Given the description of an element on the screen output the (x, y) to click on. 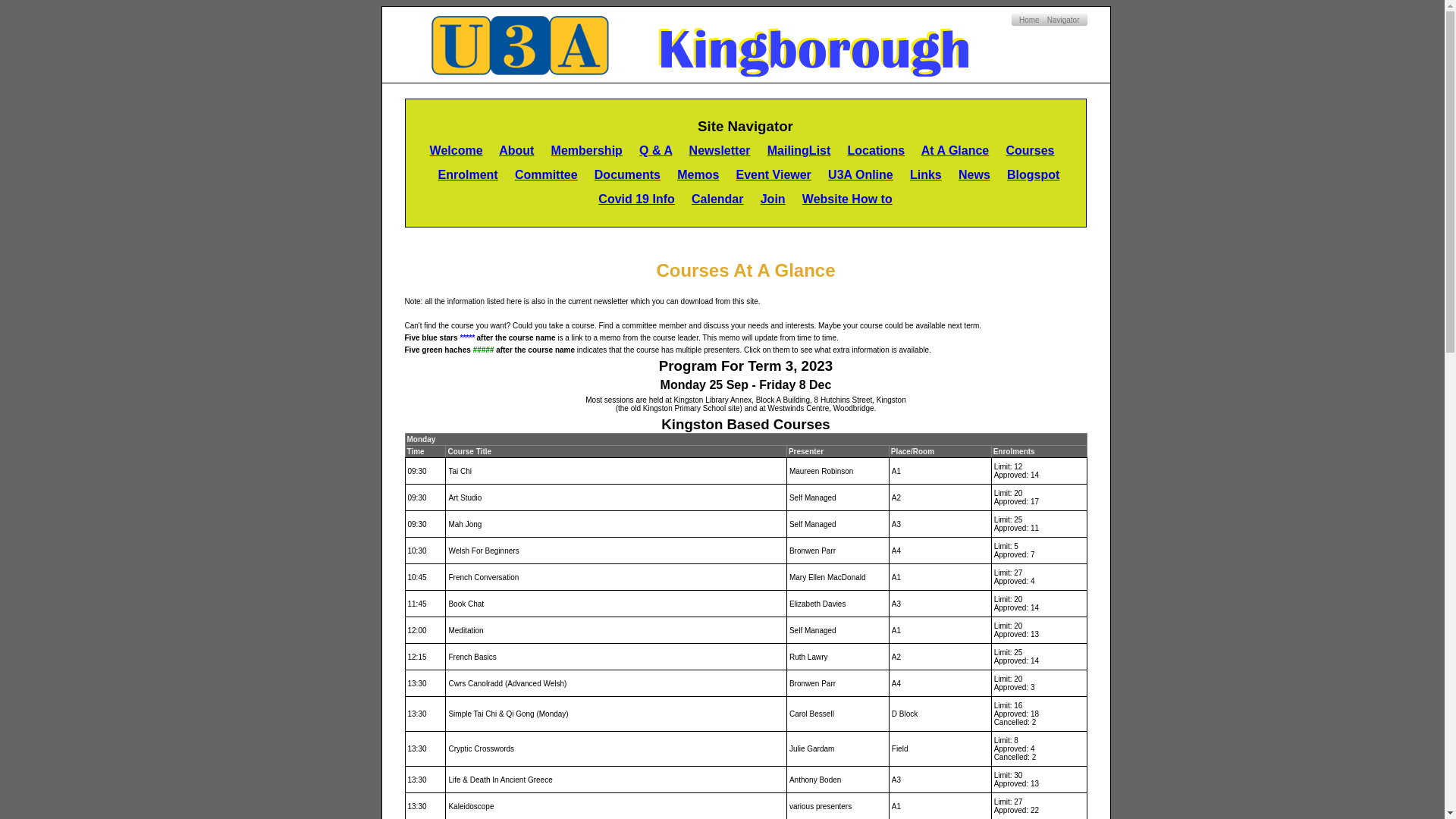
Memos Element type: text (697, 174)
Courses Element type: text (1029, 150)
Membership Element type: text (586, 150)
Links Element type: text (925, 174)
Documents Element type: text (627, 174)
Q & A Element type: text (655, 150)
Calendar Element type: text (717, 198)
Covid 19 Info Element type: text (636, 198)
Newsletter Element type: text (719, 150)
News Element type: text (974, 174)
At A Glance Element type: text (955, 150)
Home Element type: text (1029, 19)
Event Viewer Element type: text (773, 174)
Join Element type: text (772, 198)
Locations Element type: text (876, 150)
MailingList Element type: text (799, 150)
U3A Online Element type: text (860, 174)
Welcome Element type: text (456, 150)
Website How to Element type: text (847, 198)
About Element type: text (515, 150)
Enrolment Element type: text (468, 174)
Committee Element type: text (545, 174)
Navigator Element type: text (1063, 19)
Blogspot Element type: text (1033, 174)
